Given the description of an element on the screen output the (x, y) to click on. 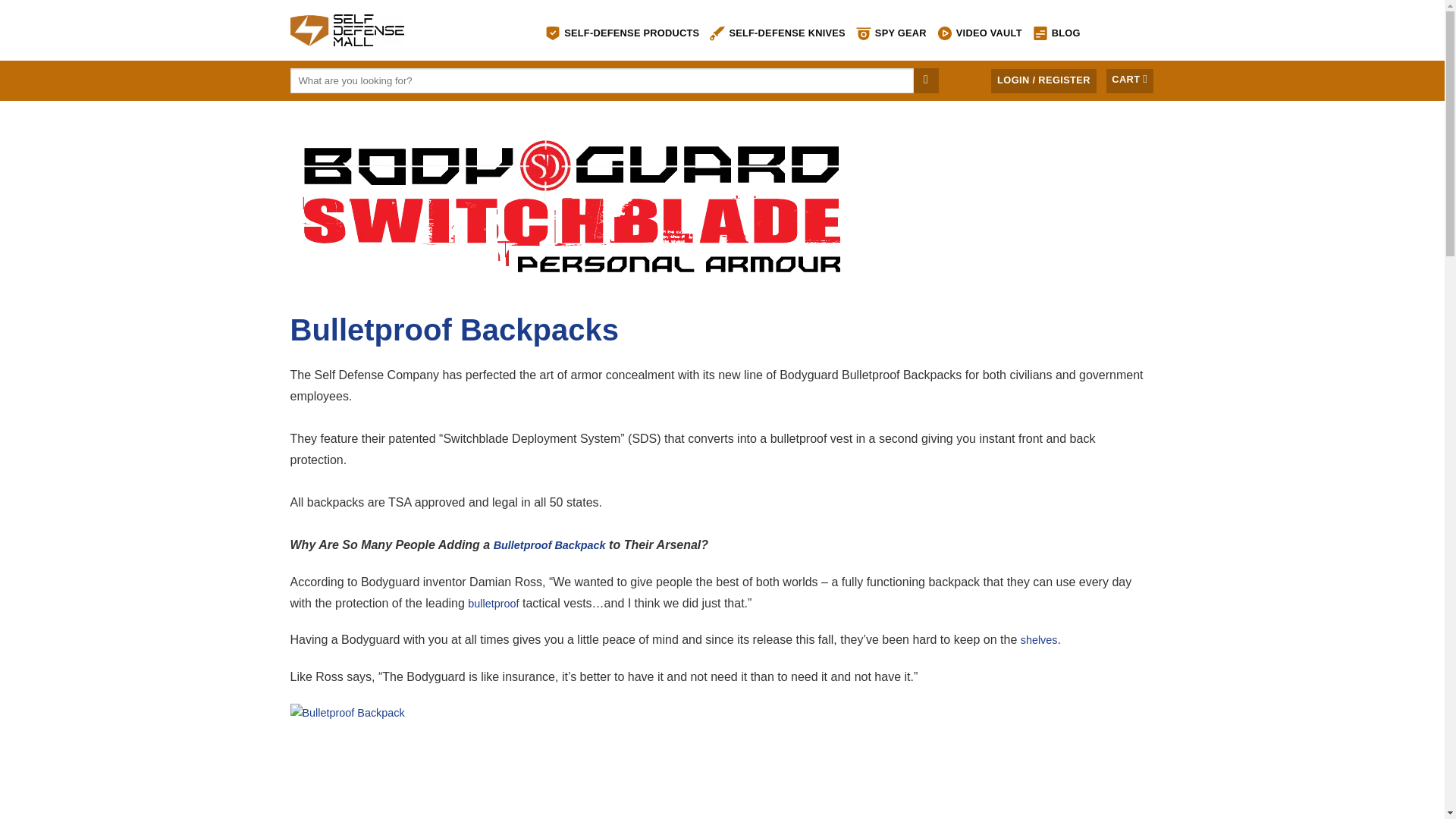
VIDEO VAULT (979, 33)
SELF-DEFENSE PRODUCTS (621, 33)
Bulletproof Backpack (549, 544)
Cart (1129, 79)
CART (1129, 79)
shelves (1039, 639)
Search (926, 80)
SPY GEAR (891, 33)
SELF-DEFENSE KNIVES (777, 33)
